Given the description of an element on the screen output the (x, y) to click on. 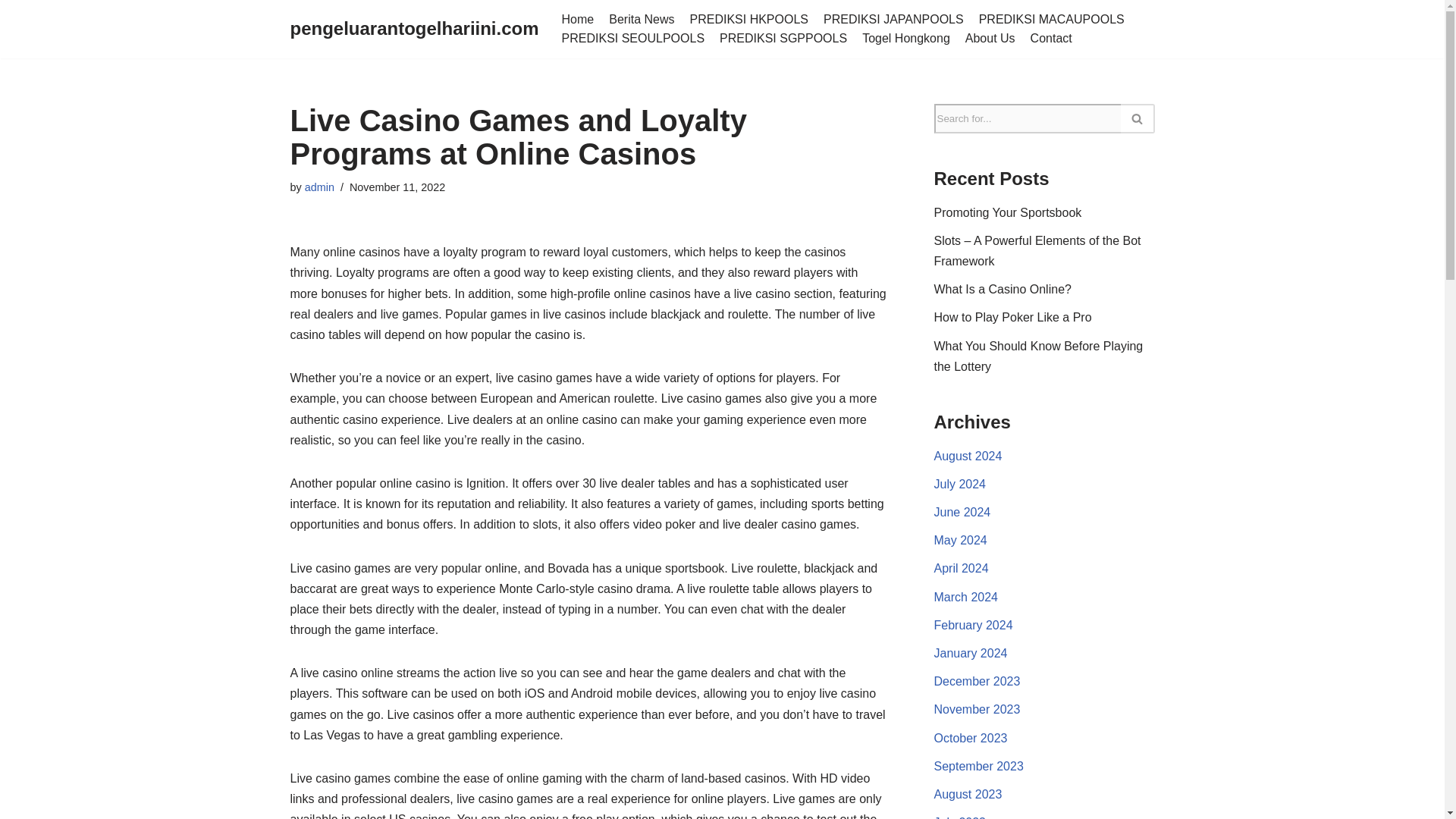
June 2024 (962, 512)
May 2024 (960, 540)
What Is a Casino Online? (1002, 288)
Skip to content (11, 31)
March 2024 (966, 596)
Togel Hongkong (905, 38)
pengeluarantogelhariini.com (413, 29)
What You Should Know Before Playing the Lottery (1038, 356)
April 2024 (961, 567)
pengeluarantogelhariini.com (413, 29)
PREDIKSI JAPANPOOLS (893, 19)
July 2024 (960, 483)
Home (578, 19)
PREDIKSI SEOULPOOLS (633, 38)
PREDIKSI SGPPOOLS (783, 38)
